Given the description of an element on the screen output the (x, y) to click on. 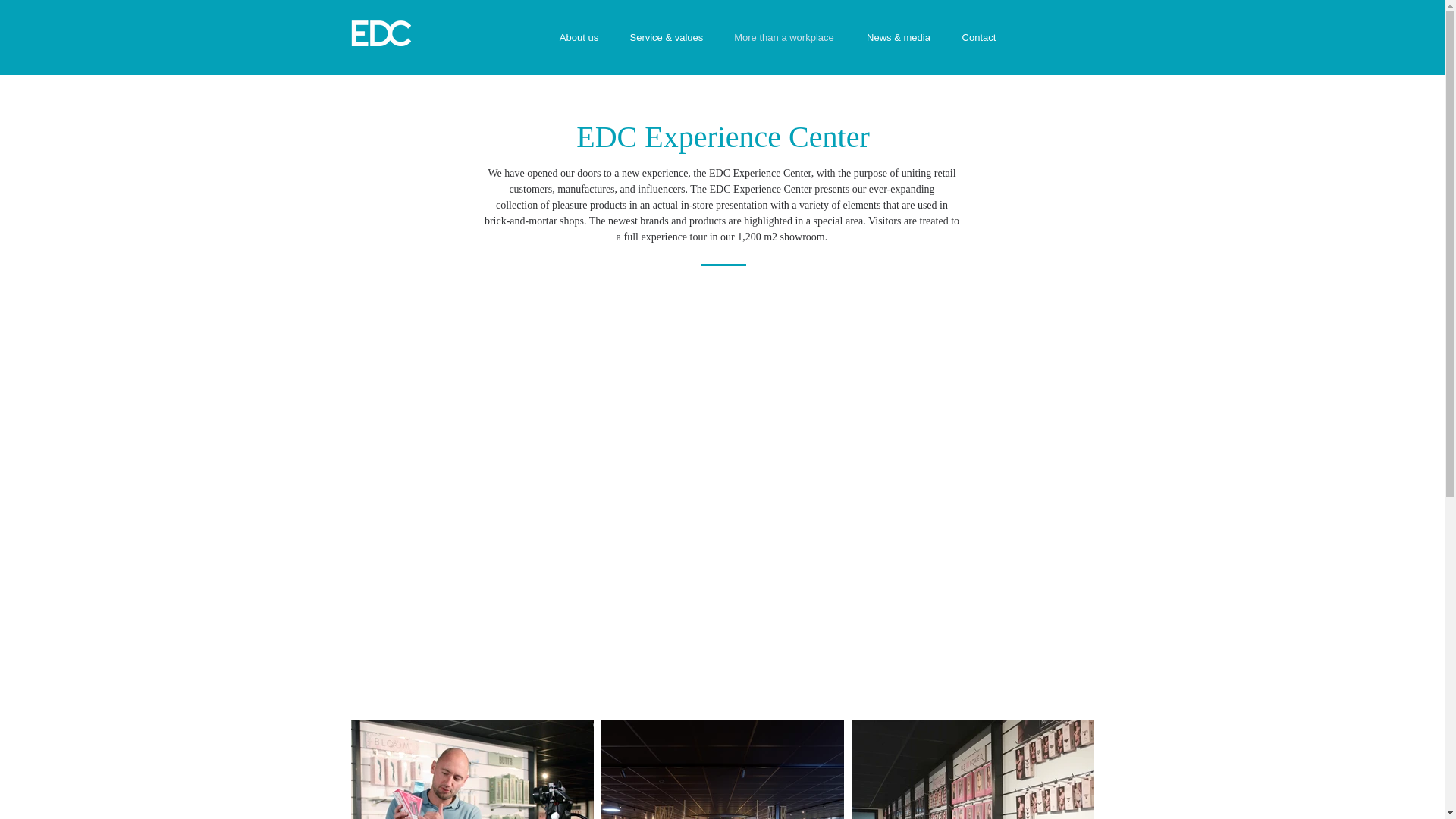
About us (578, 36)
More than a workplace (784, 36)
Contact (978, 36)
